Given the description of an element on the screen output the (x, y) to click on. 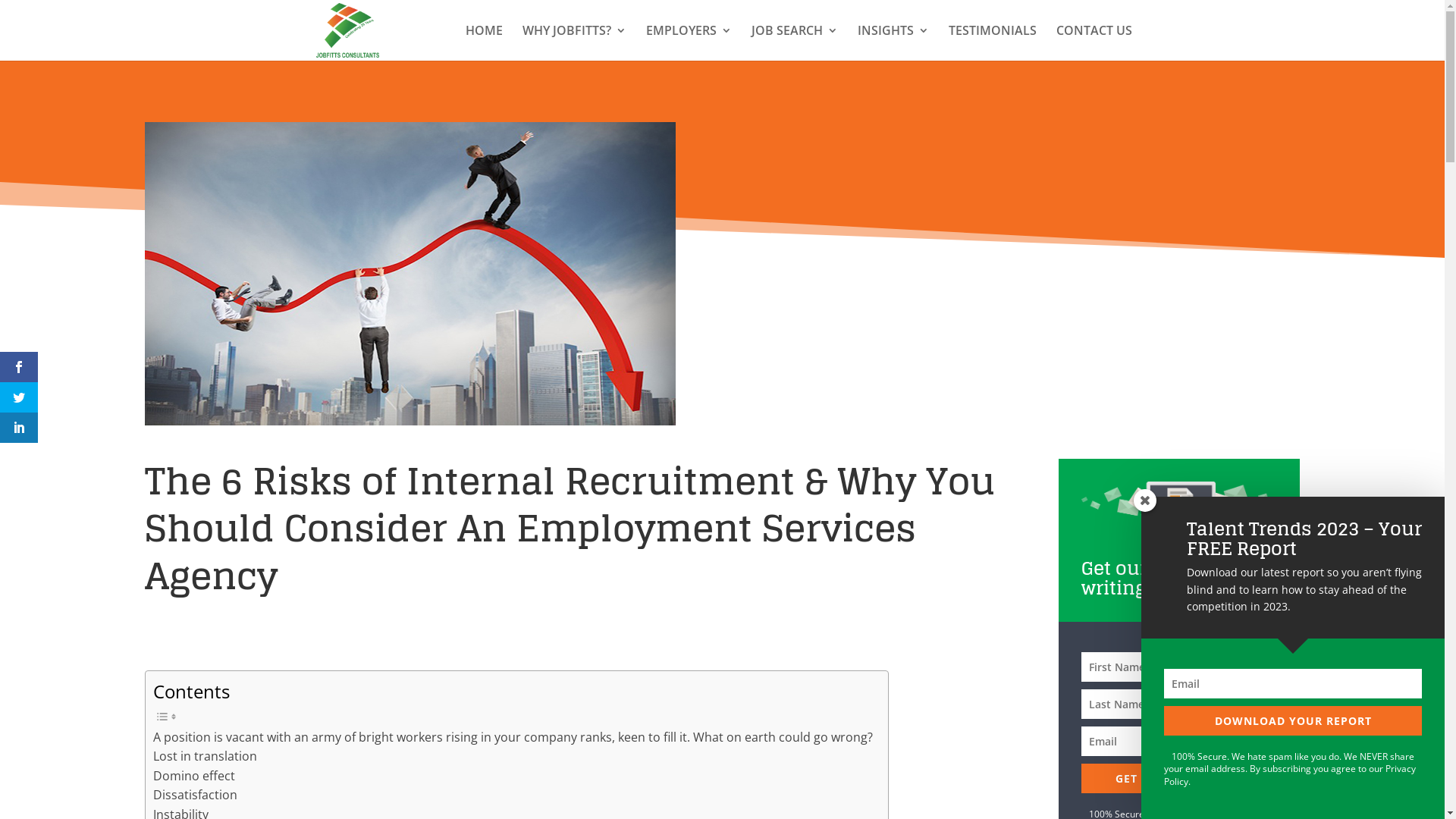
INSIGHTS Element type: text (892, 42)
CONTACT US Element type: text (1093, 42)
EMPLOYERS Element type: text (688, 42)
Privacy Policy Element type: text (1289, 774)
JOB SEARCH Element type: text (793, 42)
Domino effect Element type: text (194, 776)
DOWNLOAD YOUR REPORT Element type: text (1292, 720)
Lost in translation Element type: text (205, 756)
TESTIMONIALS Element type: text (991, 42)
GET THE LATEST TIPS! Element type: text (1179, 778)
HOME Element type: text (483, 42)
Dissatisfaction Element type: text (195, 795)
WHY JOBFITTS? Element type: text (573, 42)
Businessmen falling down Element type: hover (409, 273)
